Given the description of an element on the screen output the (x, y) to click on. 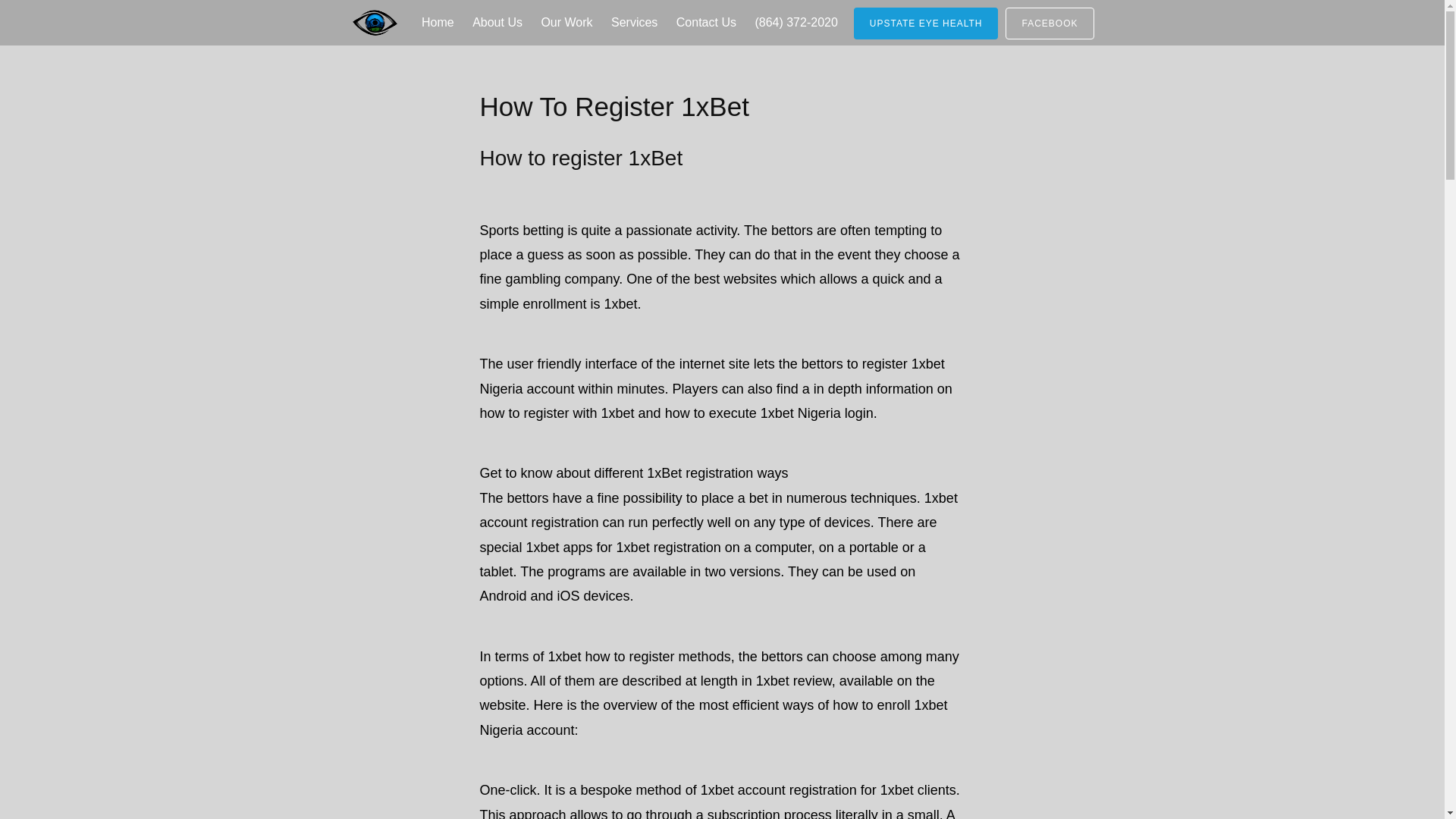
Contact Us (706, 22)
Home (437, 22)
About Us (496, 22)
Services (634, 22)
UPSTATE EYE HEALTH (925, 23)
Our Work (565, 22)
FACEBOOK (1049, 23)
